Given the description of an element on the screen output the (x, y) to click on. 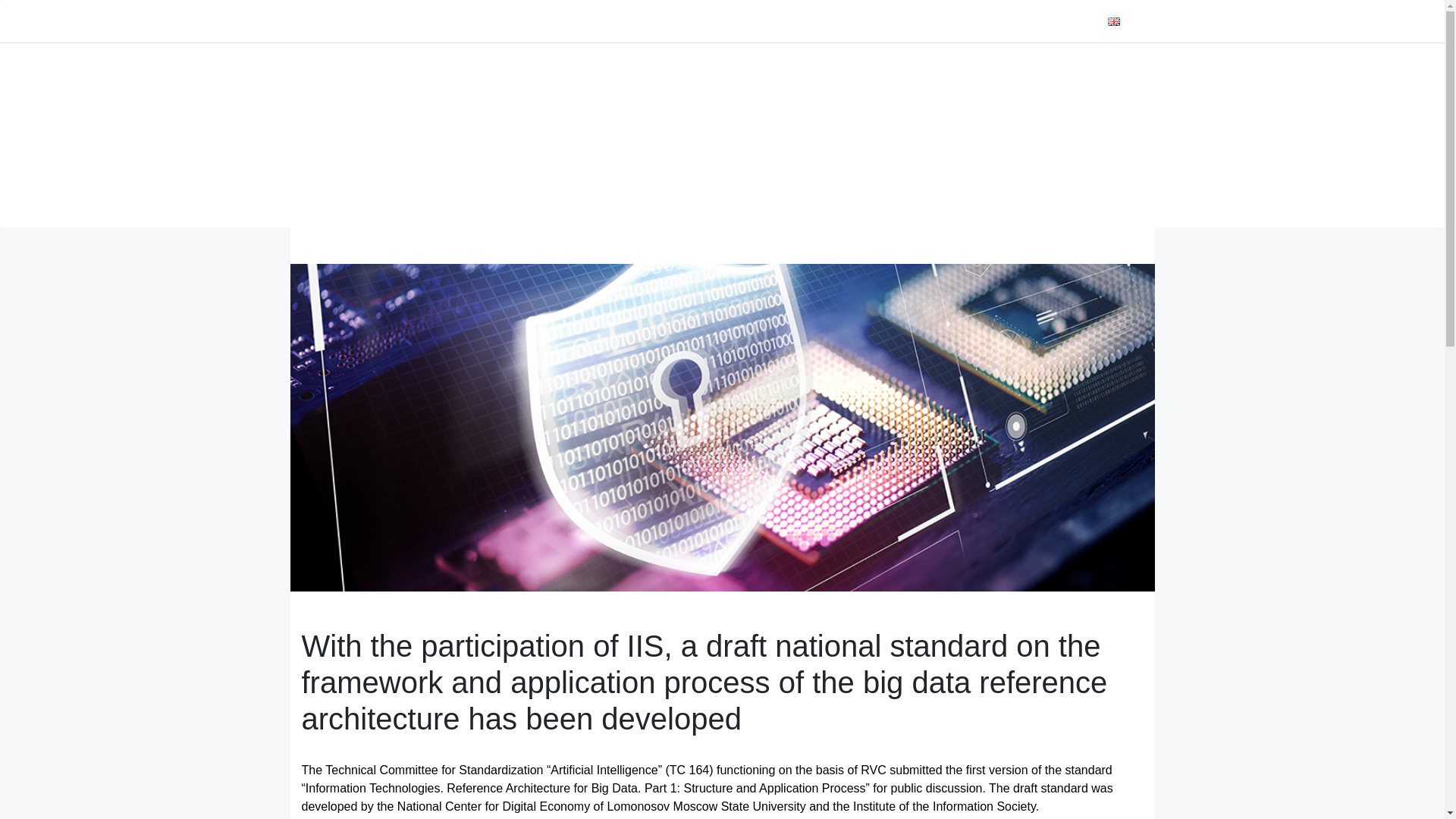
COOPERATION (934, 21)
English (1138, 21)
Customers (799, 21)
Projects (864, 21)
PROJECTS (864, 21)
NEWS (686, 21)
Hall of fame (1012, 21)
Cooperation (934, 21)
CUSTOMERS (799, 21)
